Given the description of an element on the screen output the (x, y) to click on. 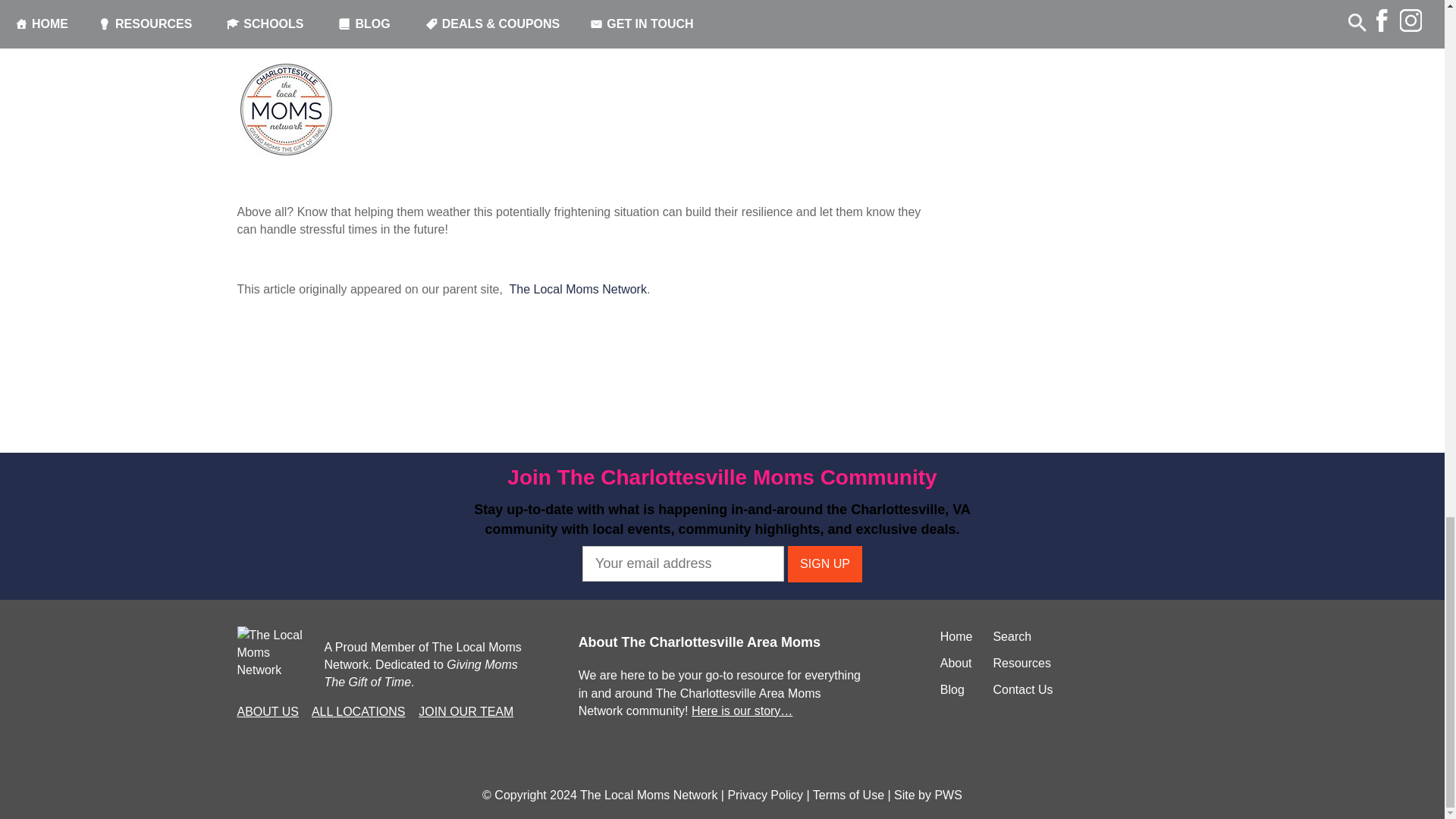
Sign up (824, 564)
